Given the description of an element on the screen output the (x, y) to click on. 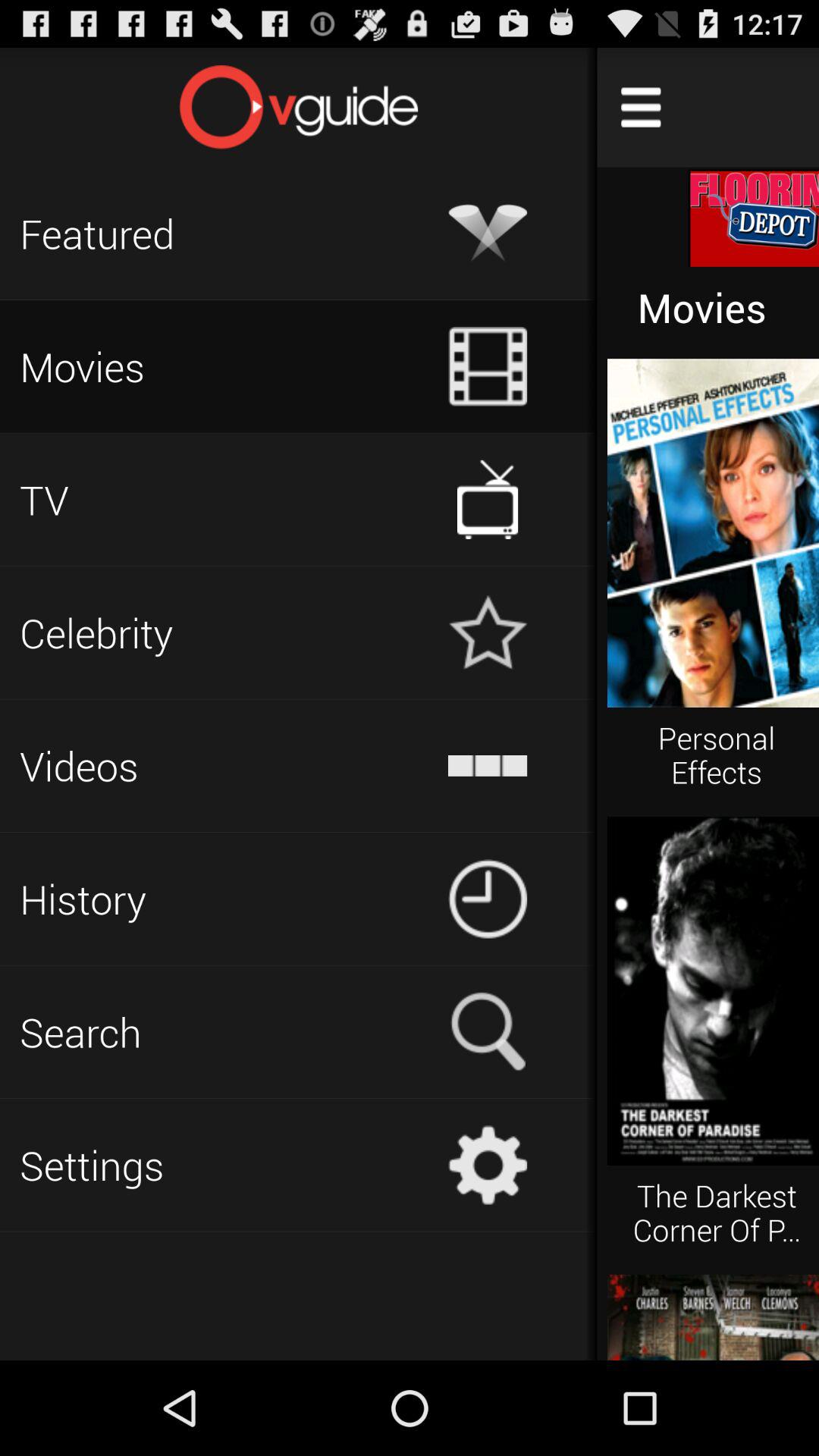
view menu (640, 107)
